Given the description of an element on the screen output the (x, y) to click on. 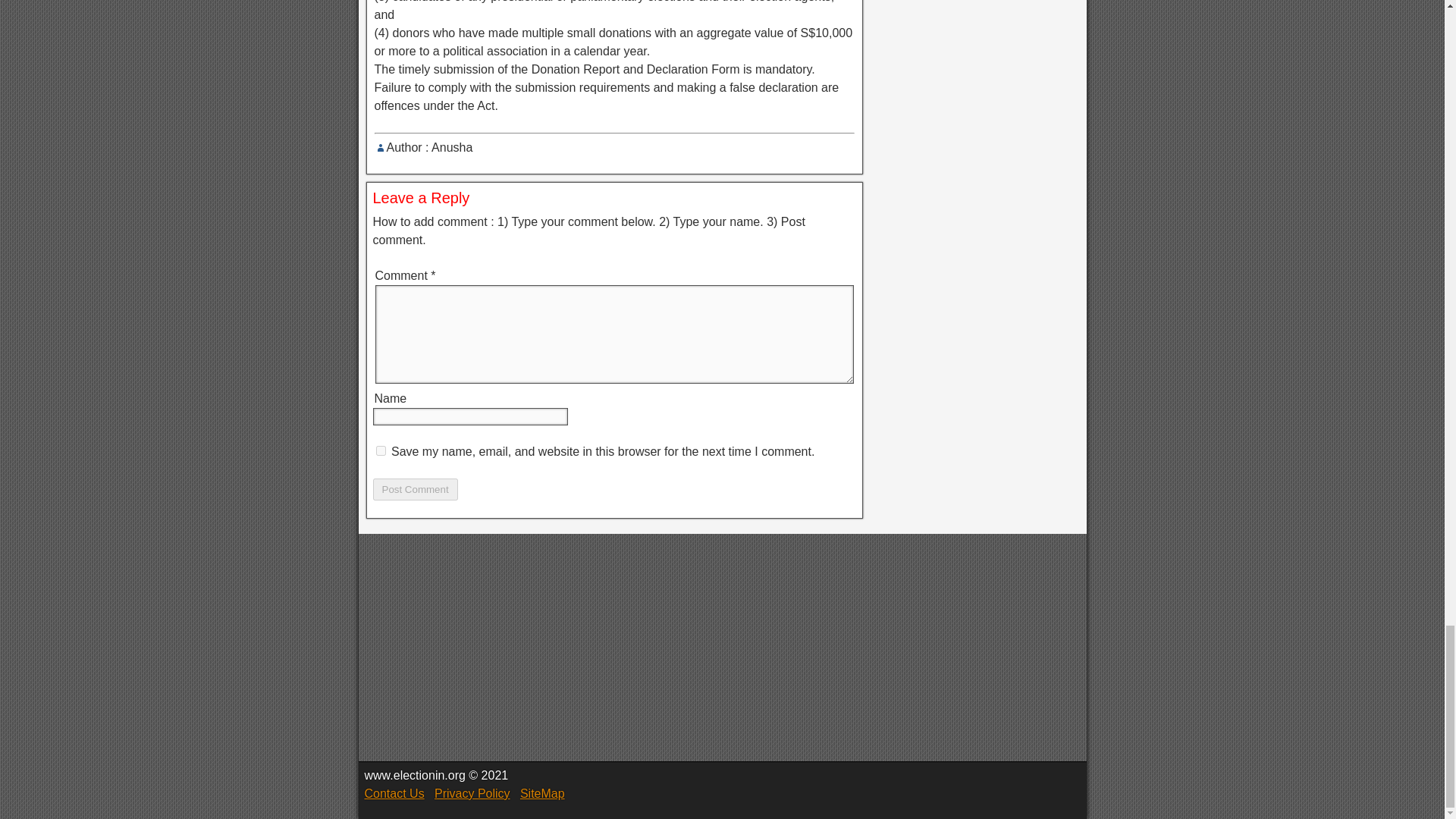
Post Comment (415, 489)
SiteMap (541, 793)
yes (380, 450)
Privacy Policy (472, 793)
Contact Us (393, 793)
Post Comment (415, 489)
